Given the description of an element on the screen output the (x, y) to click on. 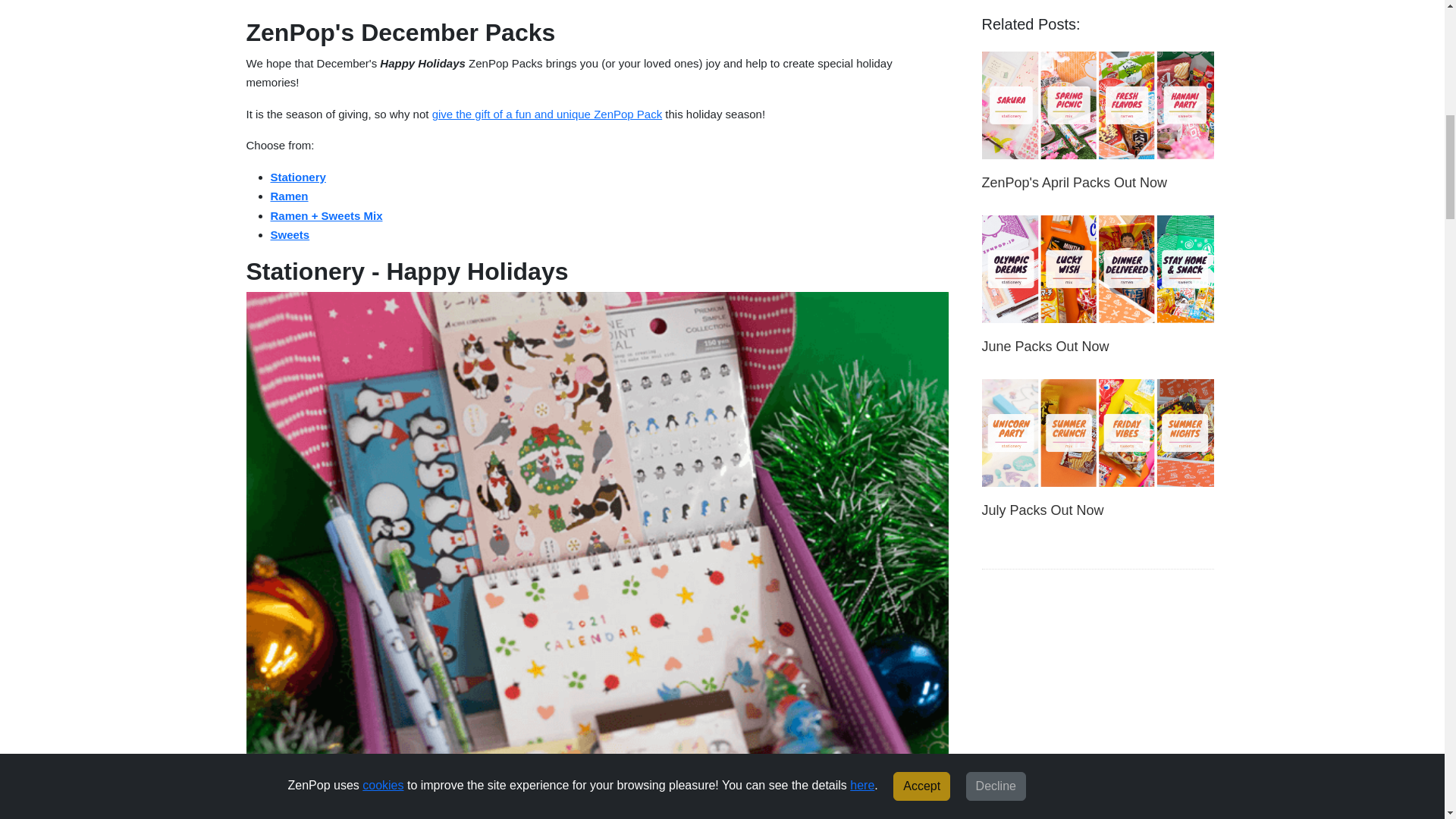
give the gift of a fun and unique ZenPop Pack (547, 113)
Give the Perfect Gift: A ZenPop Subscription Box (547, 113)
Sweets (288, 234)
Ramen (288, 195)
Stationery (296, 176)
